Given the description of an element on the screen output the (x, y) to click on. 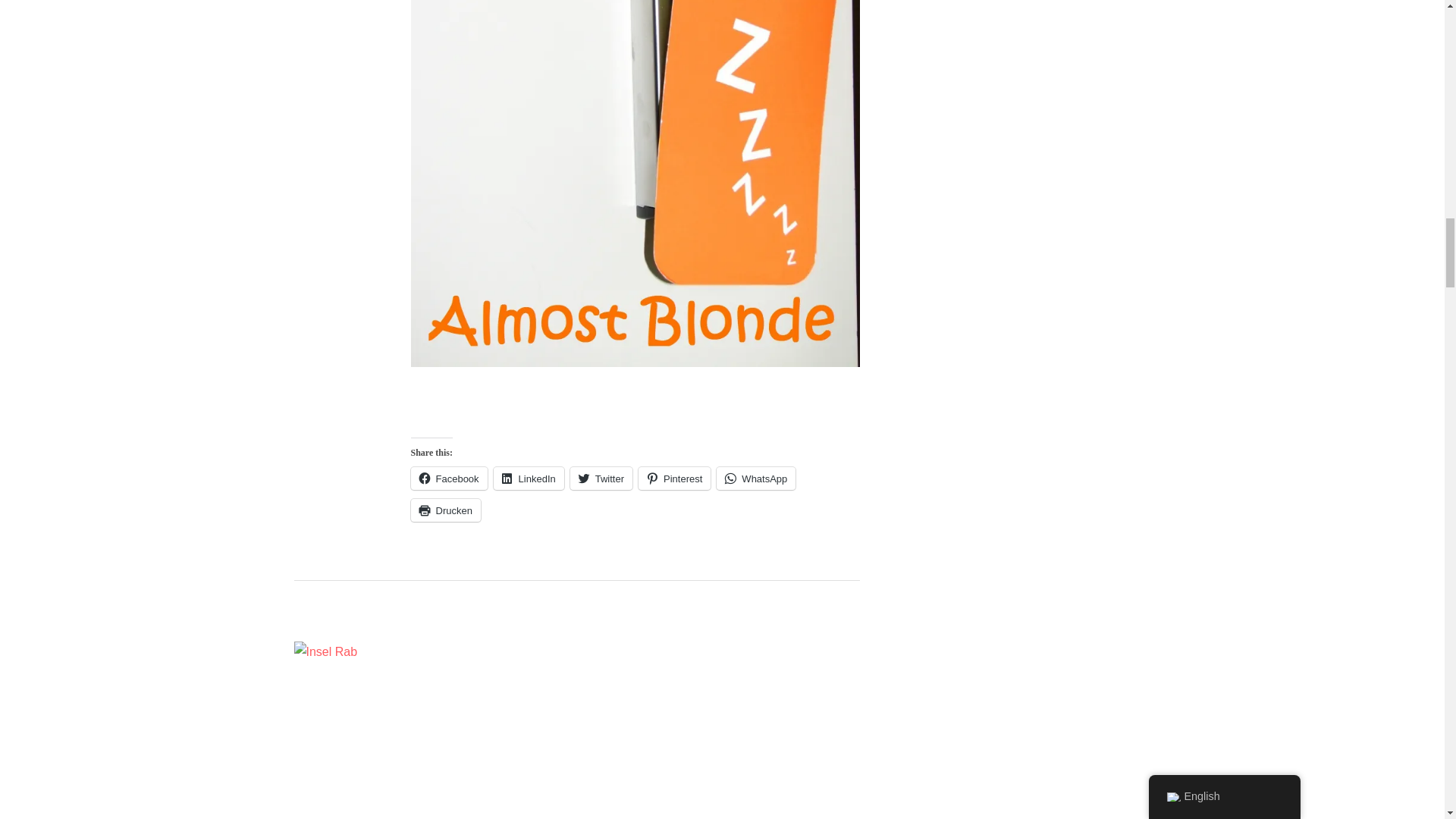
LinkedIn (528, 477)
Twitter (600, 477)
Print (445, 509)
Pinterest (674, 477)
Facebook (448, 477)
WhatsApp (755, 477)
